Given the description of an element on the screen output the (x, y) to click on. 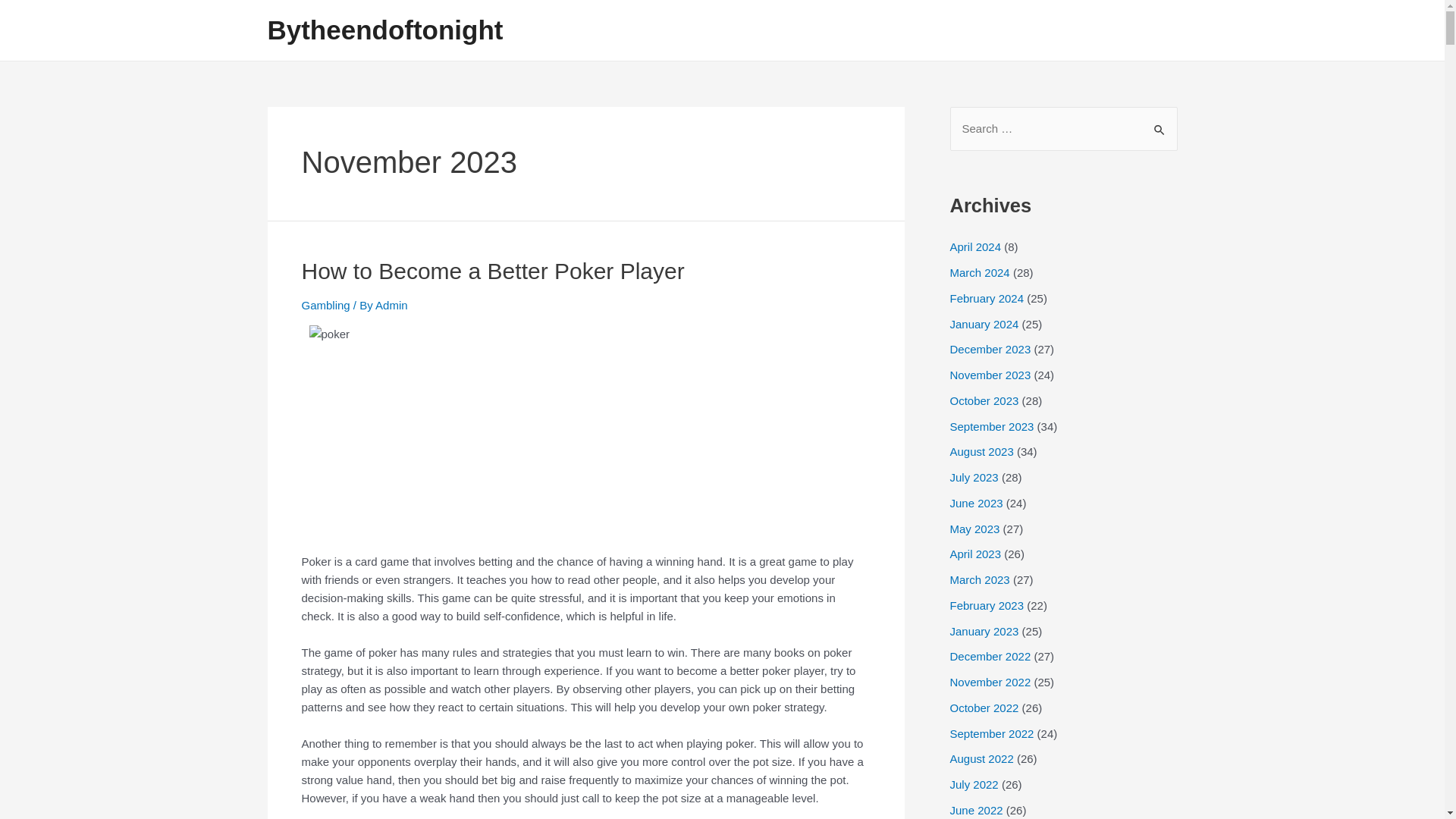
View all posts by Admin (391, 305)
Search (1159, 122)
Gambling (325, 305)
Search (1159, 122)
Bytheendoftonight (384, 30)
How to Become a Better Poker Player (492, 270)
Admin (391, 305)
